Given the description of an element on the screen output the (x, y) to click on. 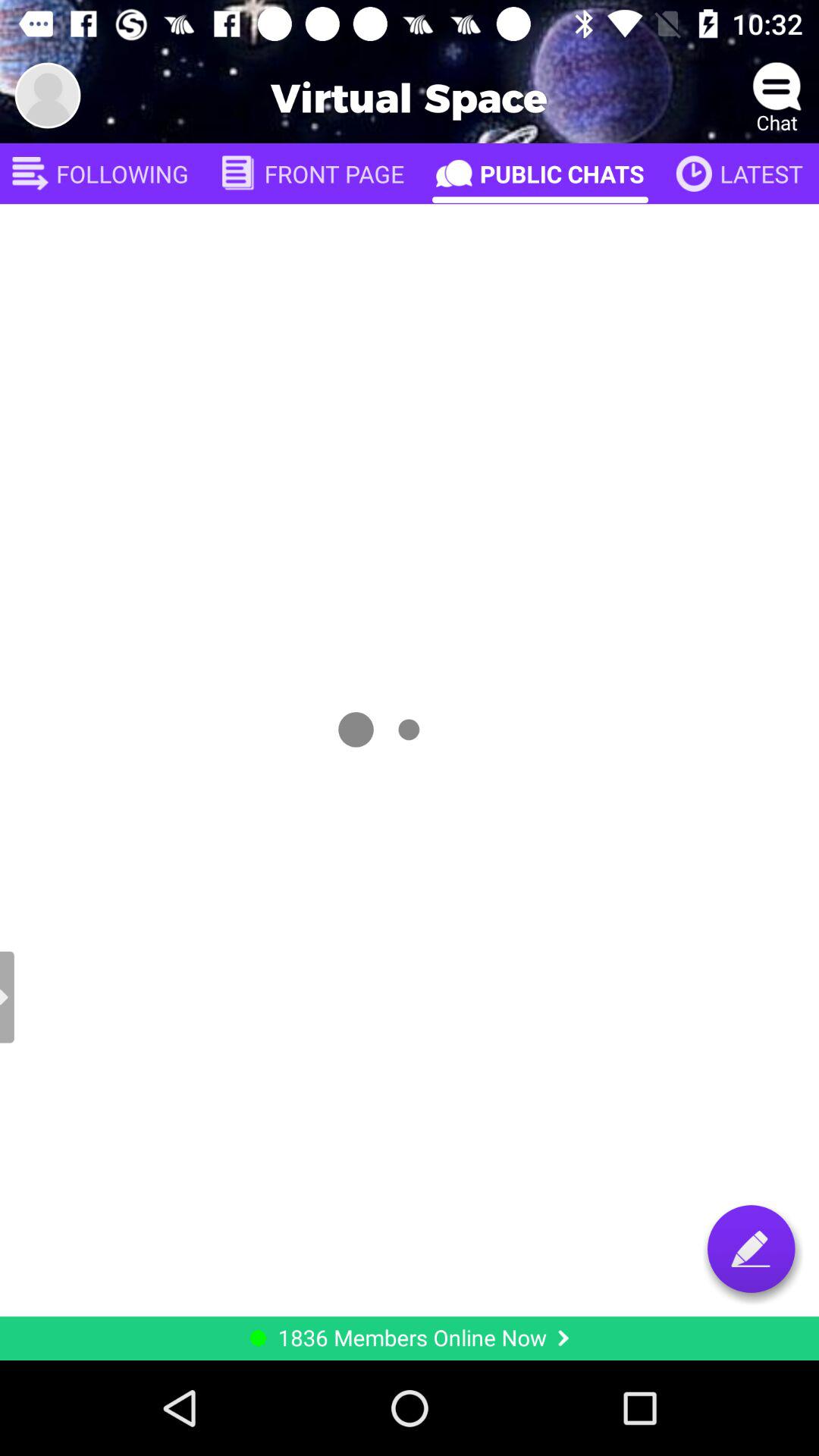
profile picture (47, 95)
